Given the description of an element on the screen output the (x, y) to click on. 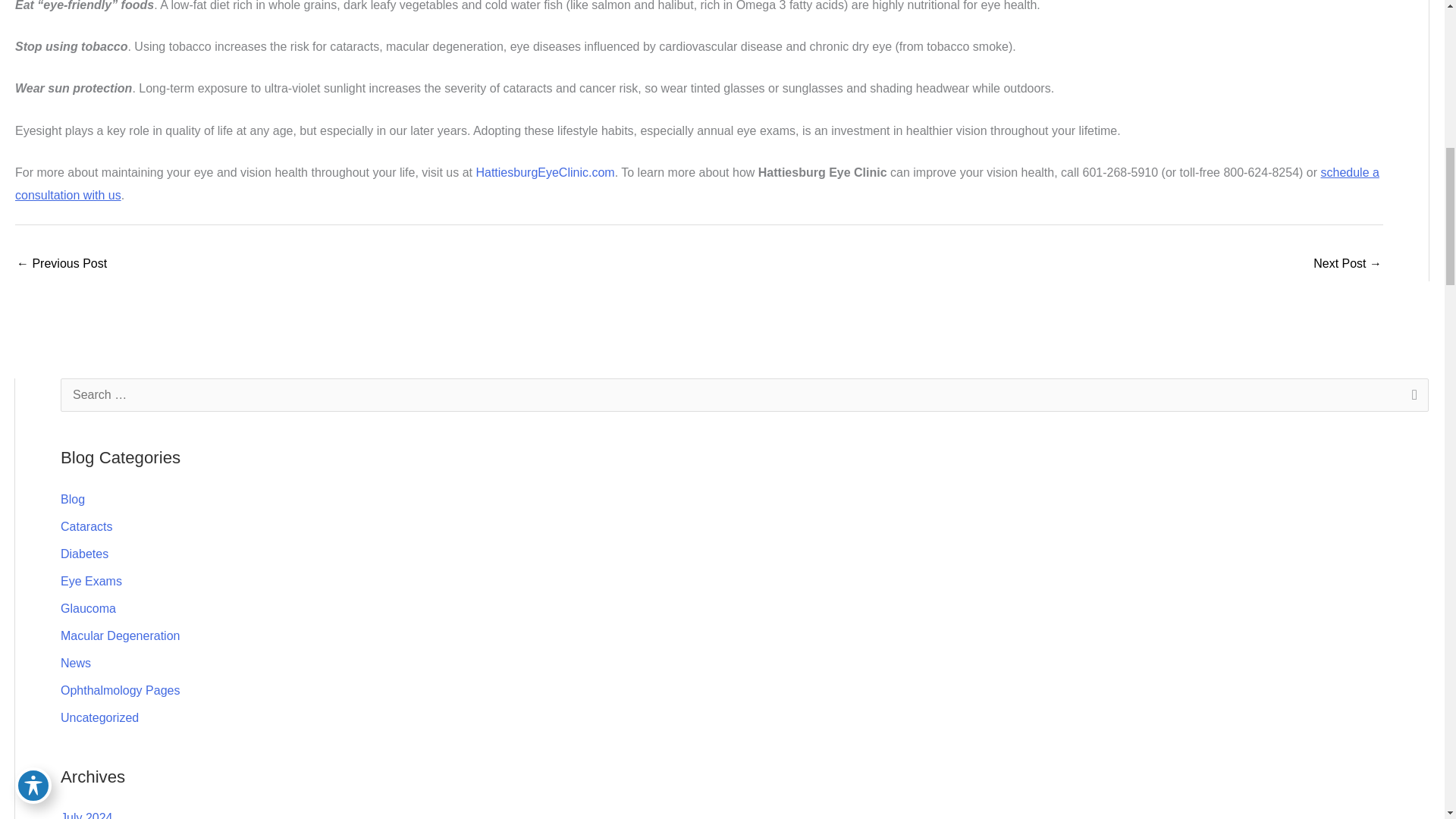
Search (1411, 399)
COVID-19 Patient Information (61, 264)
Search (1411, 399)
